Given the description of an element on the screen output the (x, y) to click on. 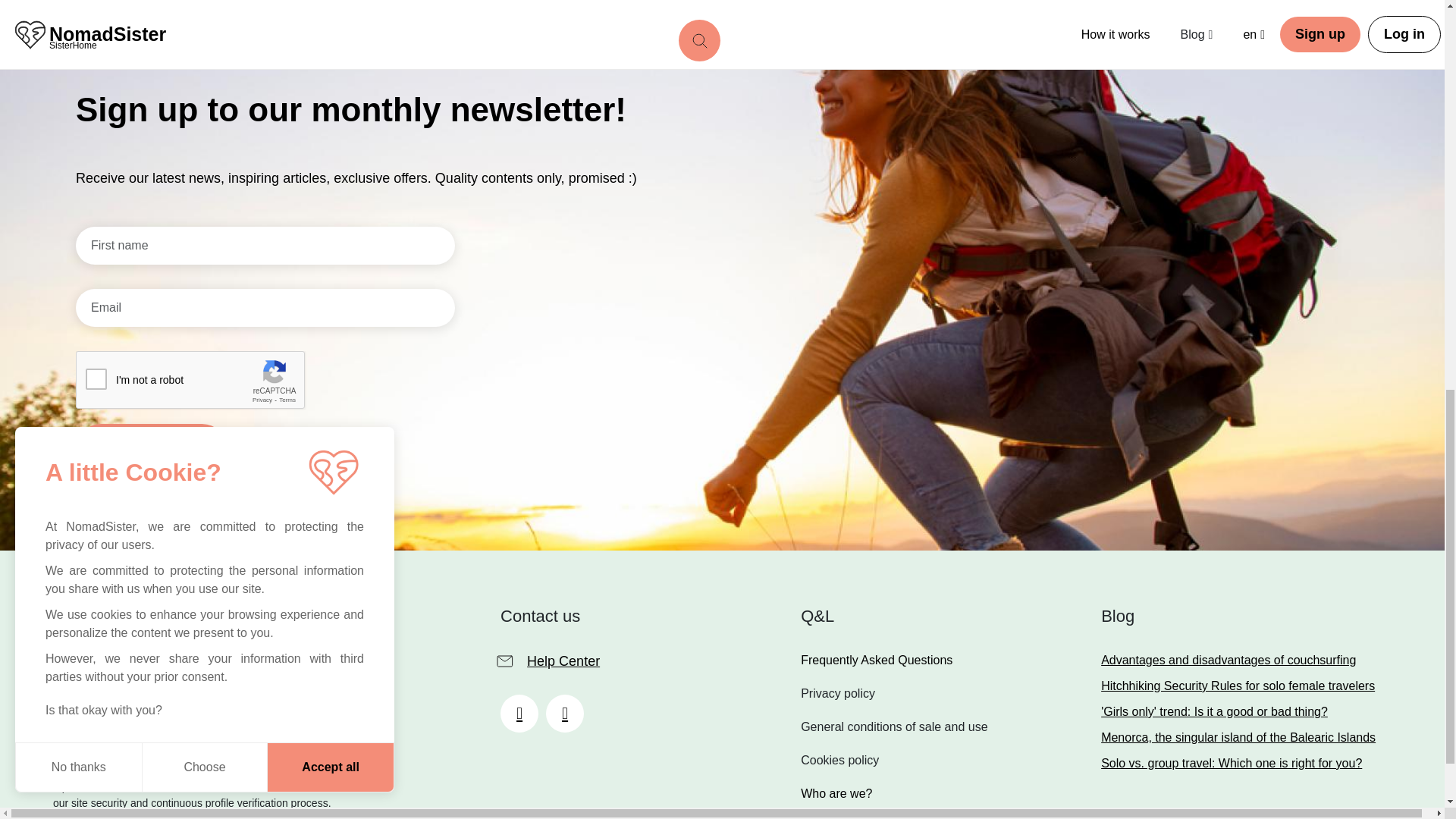
Who are we? (893, 793)
Help Center (549, 661)
reCAPTCHA (190, 380)
Menorca, the singular island of the Balearic Islands (205, 618)
Subscribe (1237, 737)
Hitchhiking Security Rules for solo female travelers (151, 449)
Frequently Asked Questions (1237, 686)
Subscribe (893, 660)
Advantages and disadvantages of couchsurfing (151, 449)
'Girls only' trend: Is it a good or bad thing? (1237, 660)
Solo vs. group travel: Which one is right for you? (1237, 711)
